Given the description of an element on the screen output the (x, y) to click on. 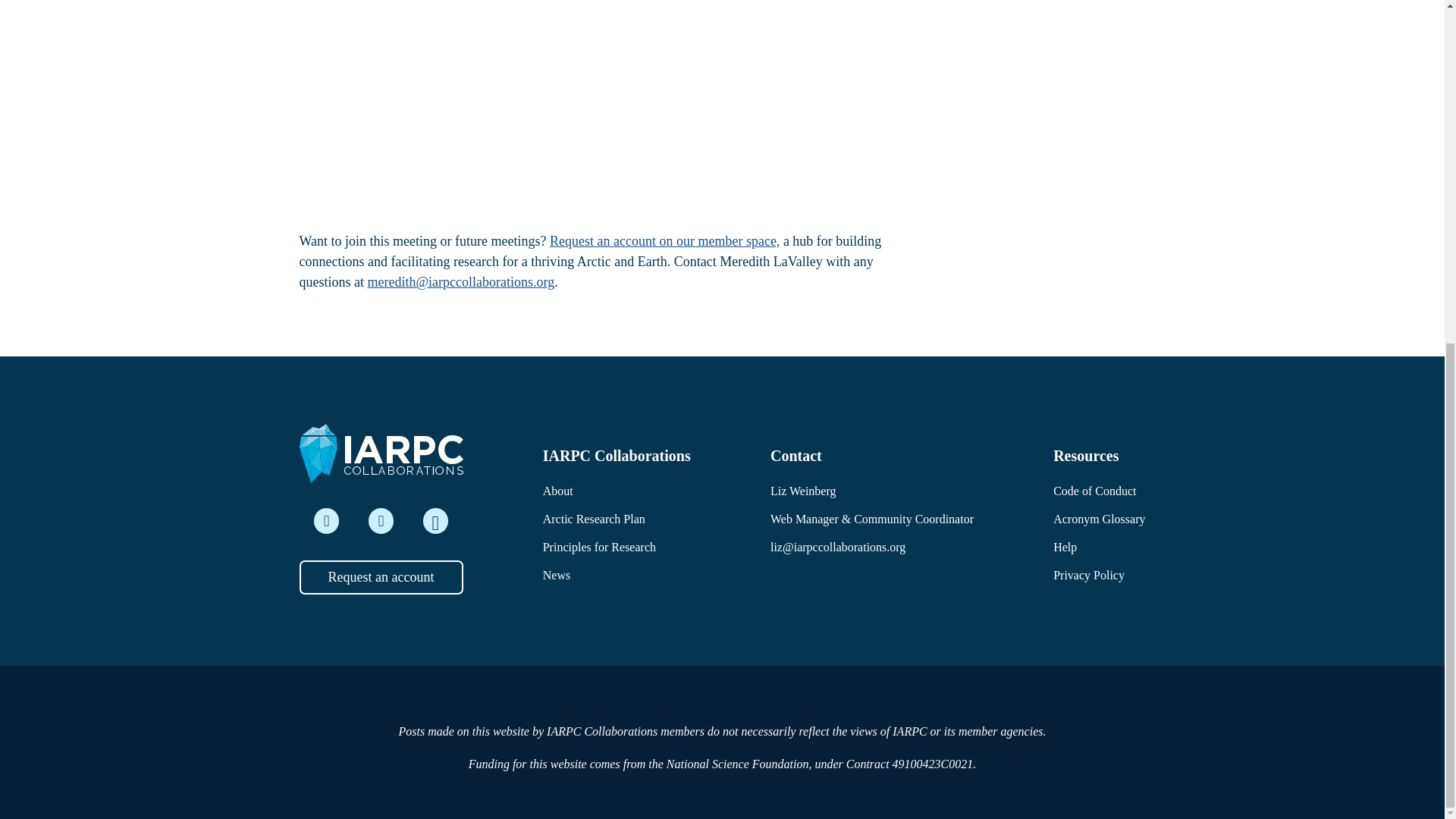
YouTube (380, 520)
Facebook (435, 520)
Twitter (326, 520)
